Given the description of an element on the screen output the (x, y) to click on. 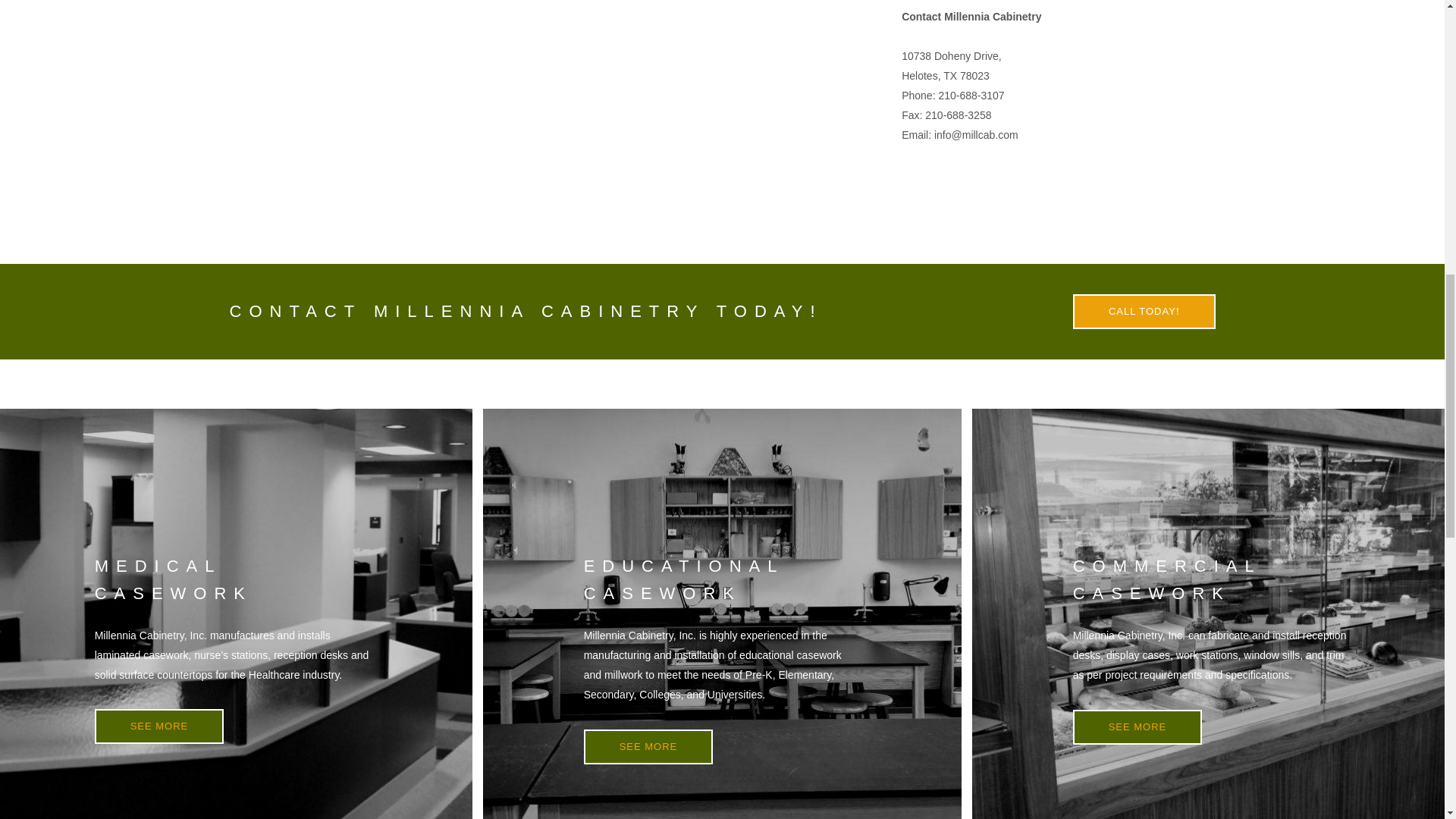
SEE MORE (648, 746)
CALL TODAY! (1144, 311)
SEE MORE (159, 726)
SEE MORE (1137, 727)
